Given the description of an element on the screen output the (x, y) to click on. 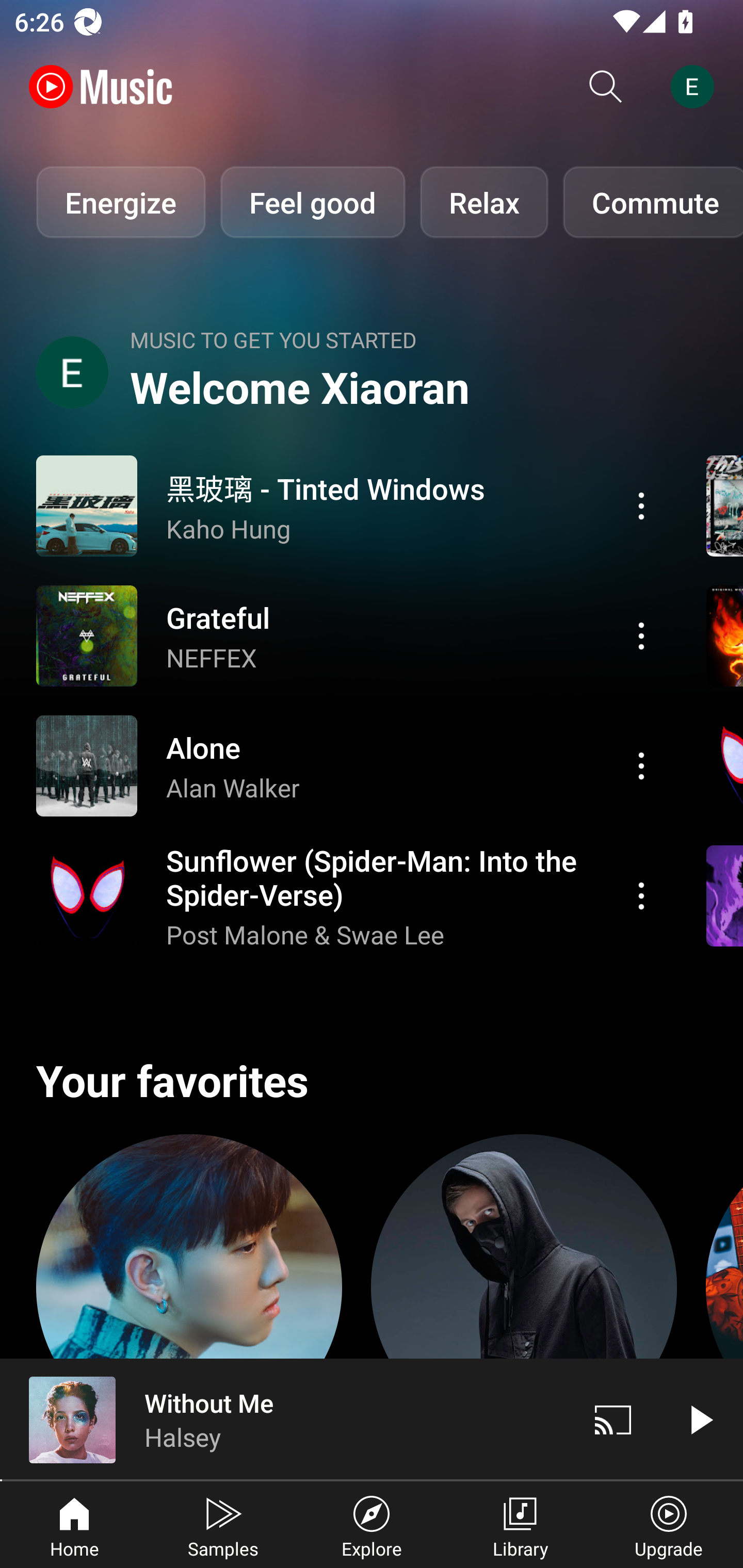
Search (605, 86)
Account (696, 86)
Action menu (349, 505)
Action menu (641, 505)
Action menu (349, 635)
Action menu (641, 635)
Action menu (349, 765)
Action menu (641, 765)
Action menu (349, 896)
Action menu (641, 896)
Without Me Halsey (284, 1419)
Cast. Disconnected (612, 1419)
Play video (699, 1419)
Home (74, 1524)
Samples (222, 1524)
Explore (371, 1524)
Library (519, 1524)
Upgrade (668, 1524)
